Given the description of an element on the screen output the (x, y) to click on. 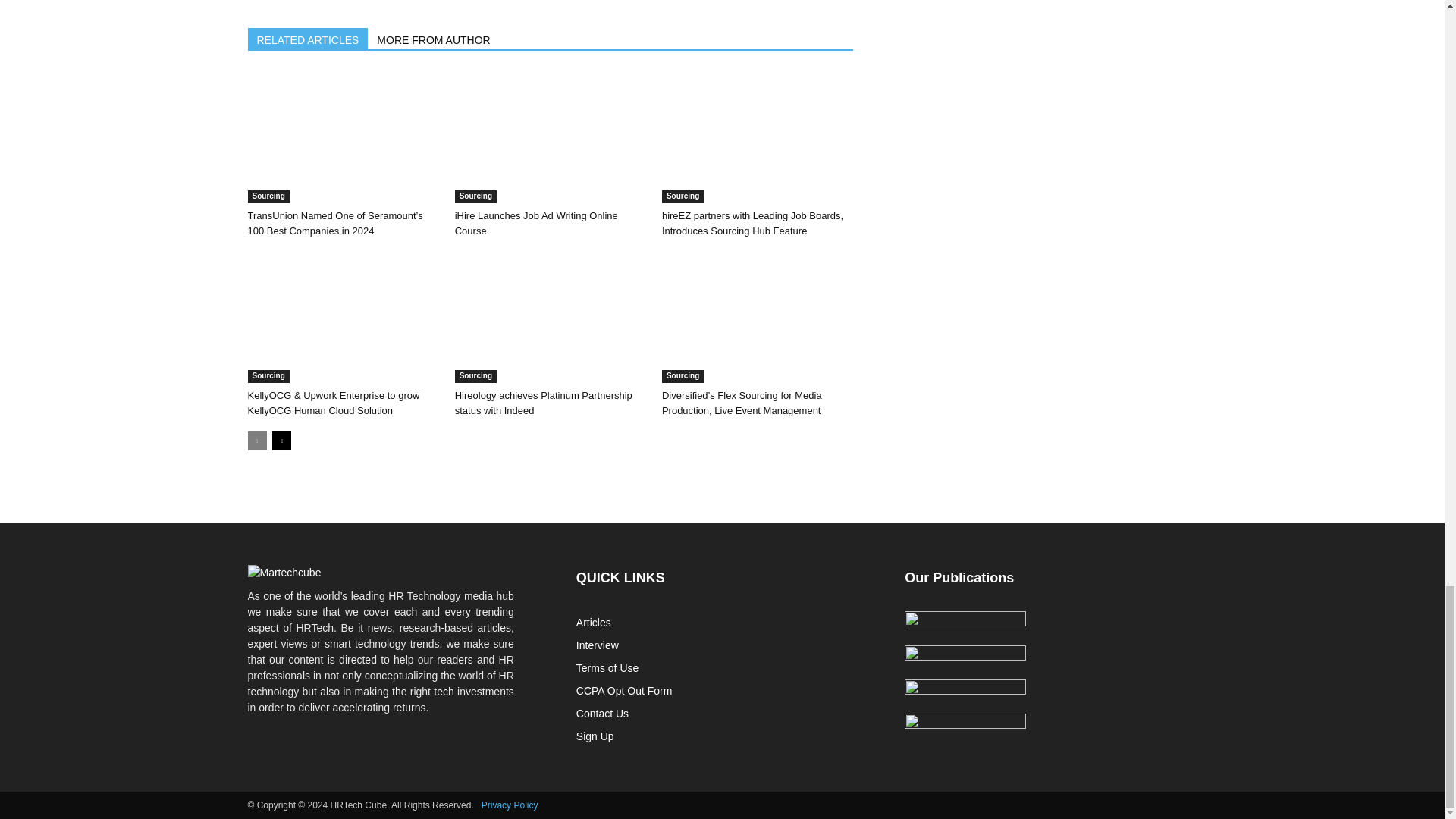
iHire Launches Job Ad Writing Online Course (550, 137)
